Given the description of an element on the screen output the (x, y) to click on. 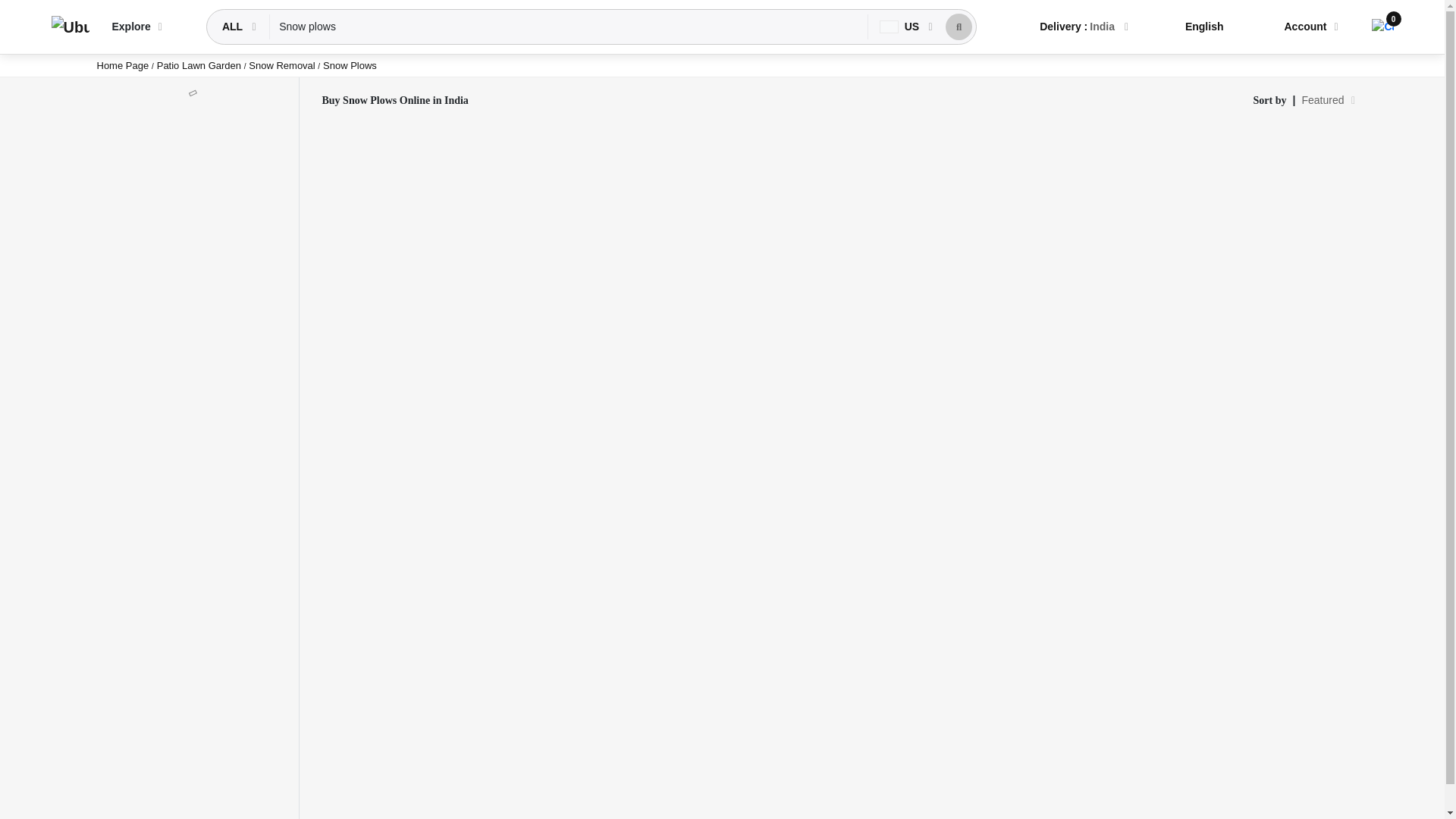
US (900, 26)
0 (1382, 27)
ALL (234, 26)
Snow plows (568, 26)
Ubuy (69, 27)
